Given the description of an element on the screen output the (x, y) to click on. 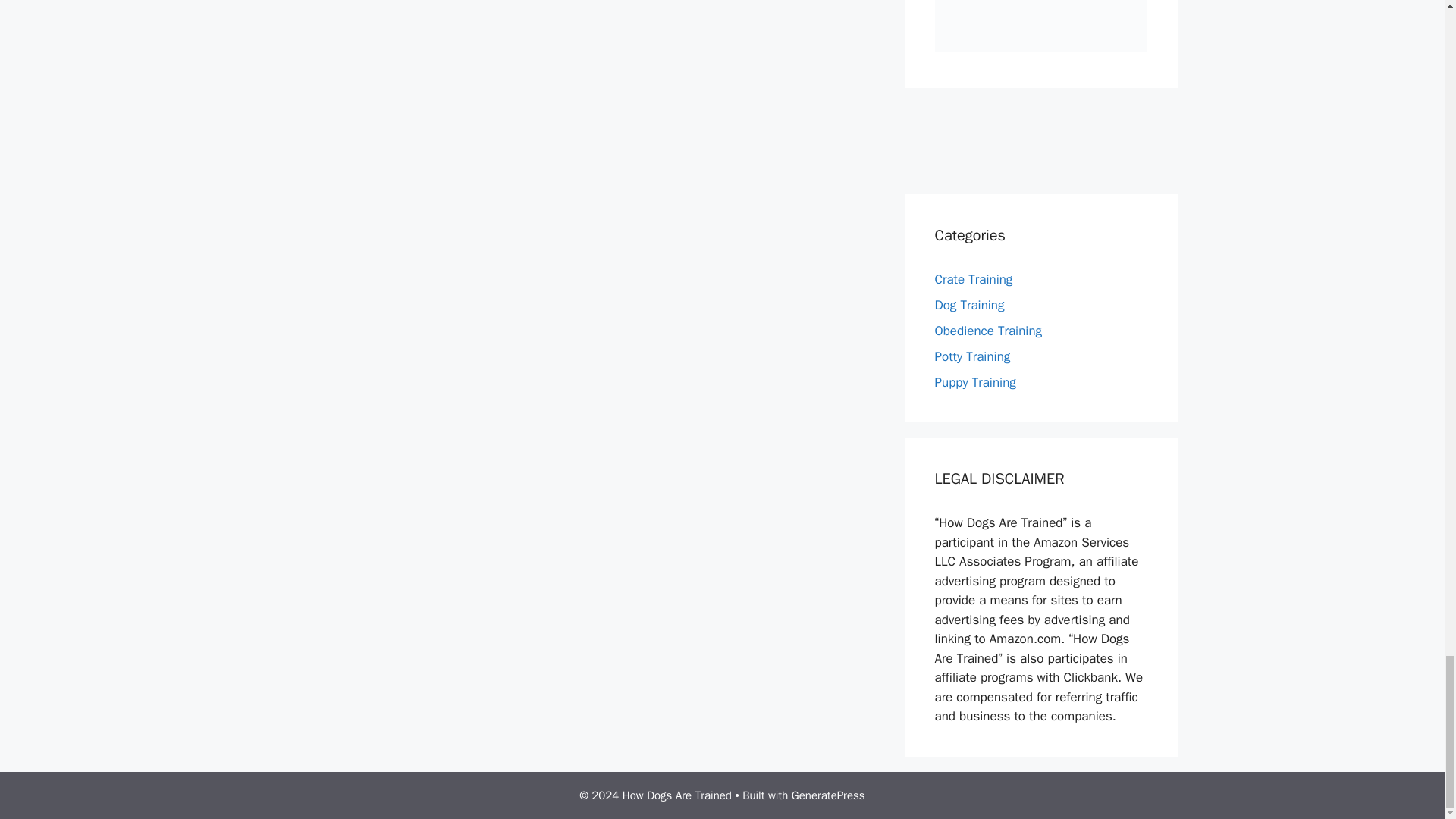
Crate Training (972, 279)
Dog Training (969, 304)
GeneratePress (828, 795)
Obedience Training (988, 330)
Potty Training (972, 356)
Puppy Training (974, 382)
